Given the description of an element on the screen output the (x, y) to click on. 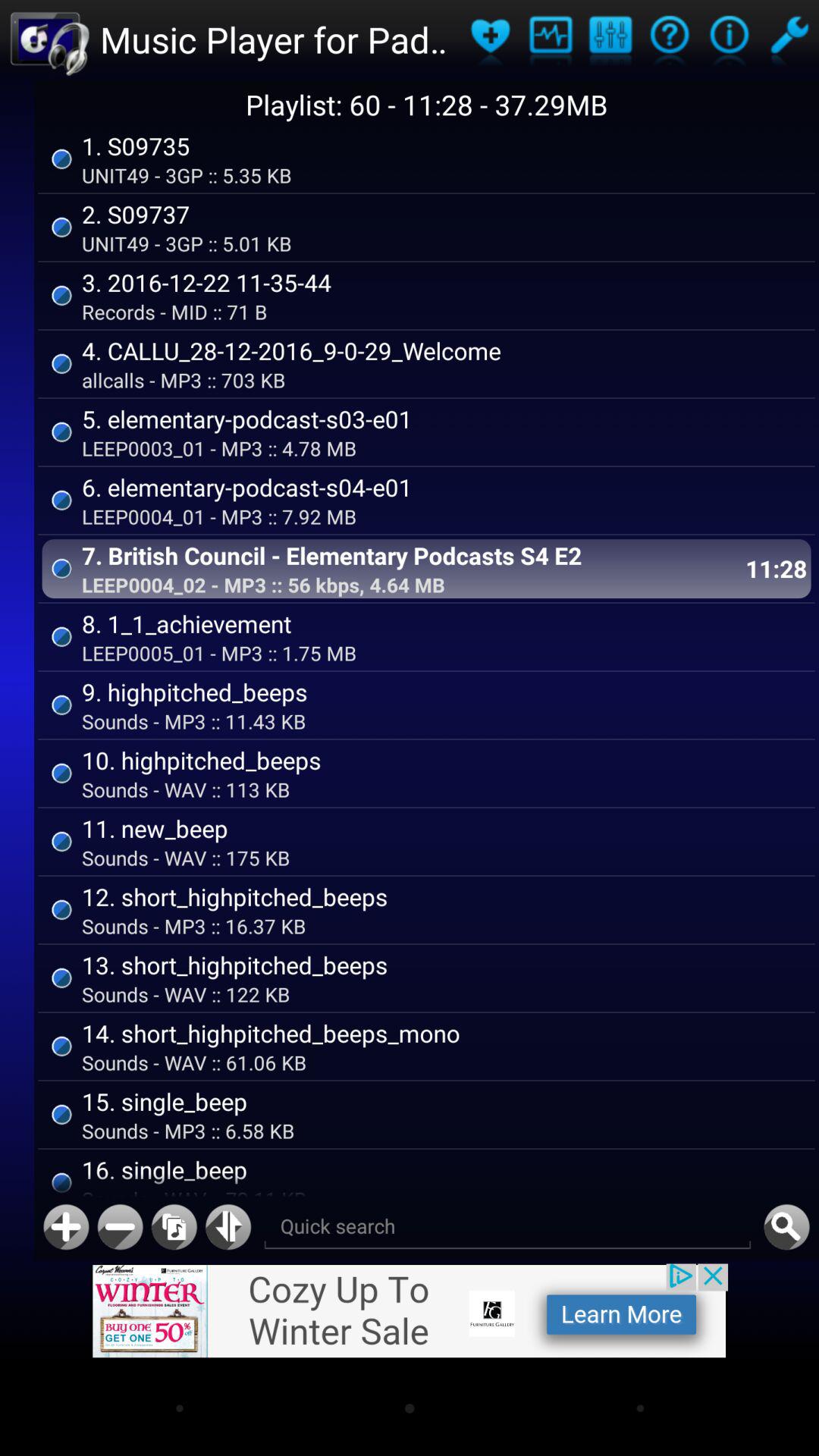
search this list (786, 1226)
